Given the description of an element on the screen output the (x, y) to click on. 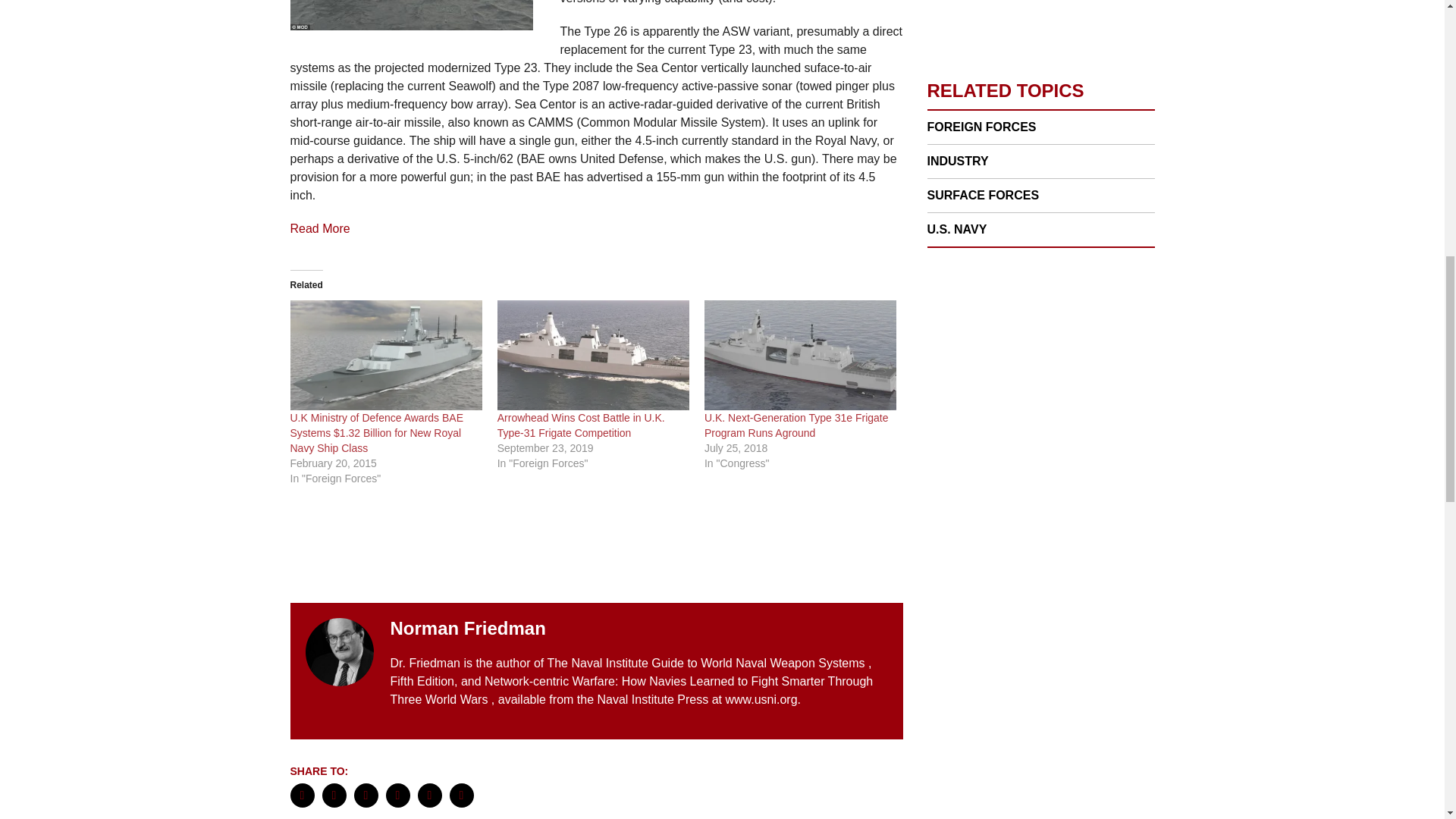
U.K. Next-Generation Type 31e Frigate Program Runs Aground (796, 424)
U.K. Next-Generation Type 31e Frigate Program Runs Aground (800, 355)
3rd party ad content (1040, 592)
3rd party ad content (1040, 372)
3rd party ad content (596, 547)
3rd party ad content (1040, 24)
